Given the description of an element on the screen output the (x, y) to click on. 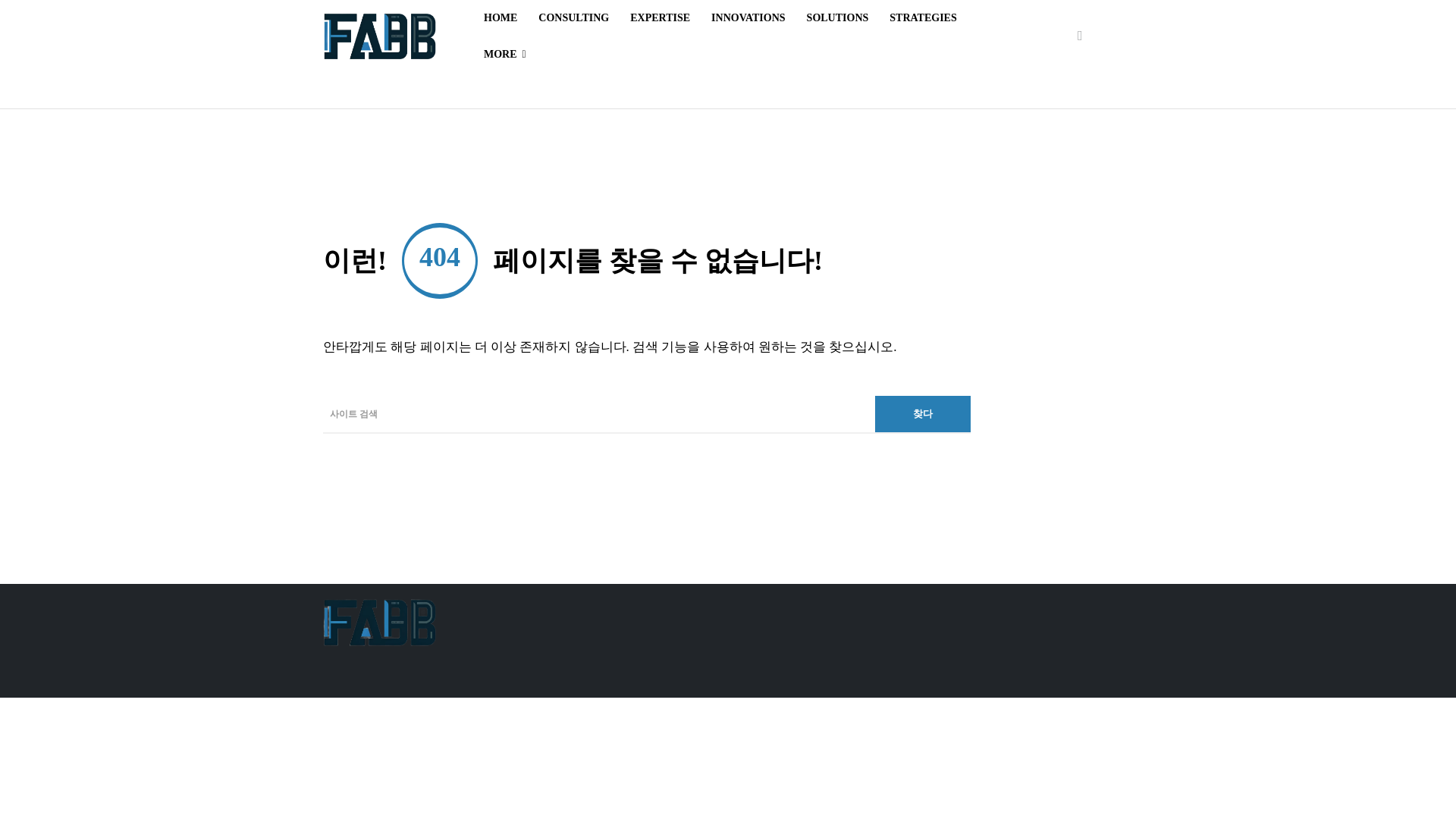
EXPERTISE (660, 18)
INNOVATIONS (748, 18)
CONSULTING (573, 18)
SOLUTIONS (837, 18)
STRATEGIES (922, 18)
HOME (500, 18)
MORE (505, 54)
